Given the description of an element on the screen output the (x, y) to click on. 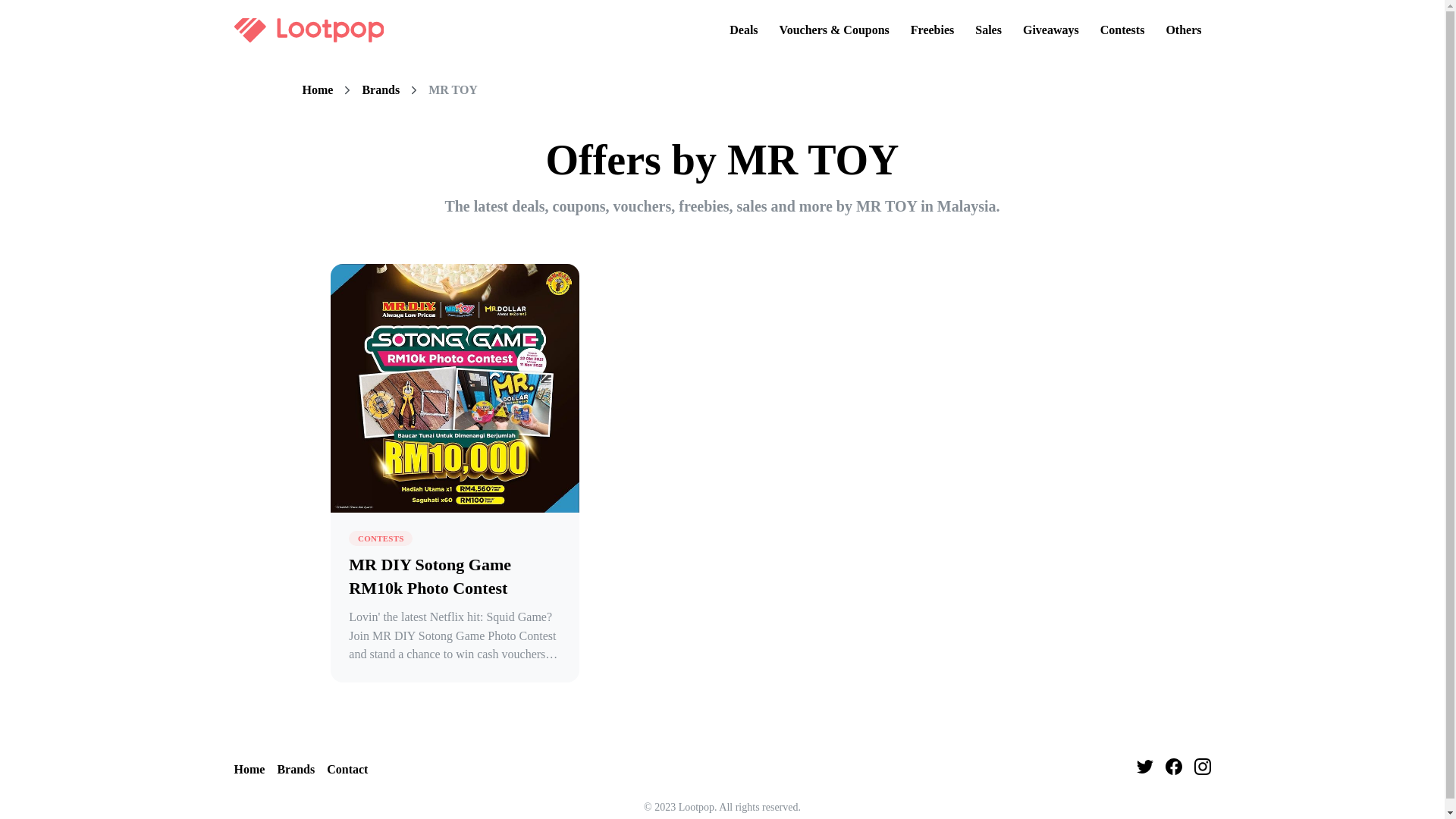
Brands (295, 769)
Brands (379, 90)
Contact (347, 769)
Contests (1122, 30)
Freebies (931, 30)
Giveaways (1050, 30)
Home (317, 90)
Deals (743, 30)
Home (248, 769)
Sales (988, 30)
